Given the description of an element on the screen output the (x, y) to click on. 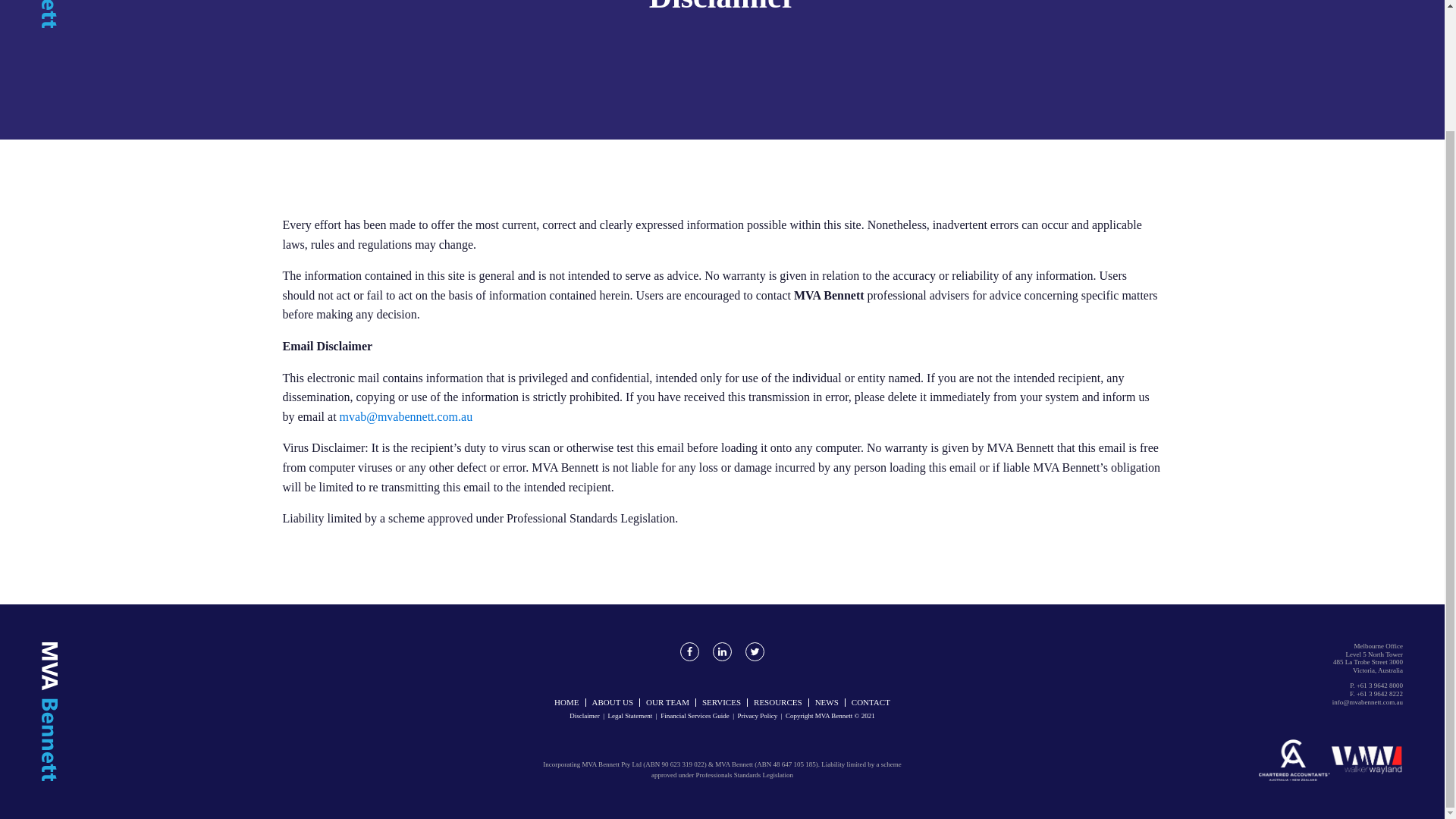
Disclaimer (584, 715)
Privacy Policy (756, 715)
ABOUT US (612, 702)
Legal Statement (630, 715)
Financial Services Guide (695, 715)
NEWS (826, 702)
OUR TEAM (667, 702)
CONTACT (870, 702)
RESOURCES (778, 702)
HOME (566, 702)
SERVICES (720, 702)
